Given the description of an element on the screen output the (x, y) to click on. 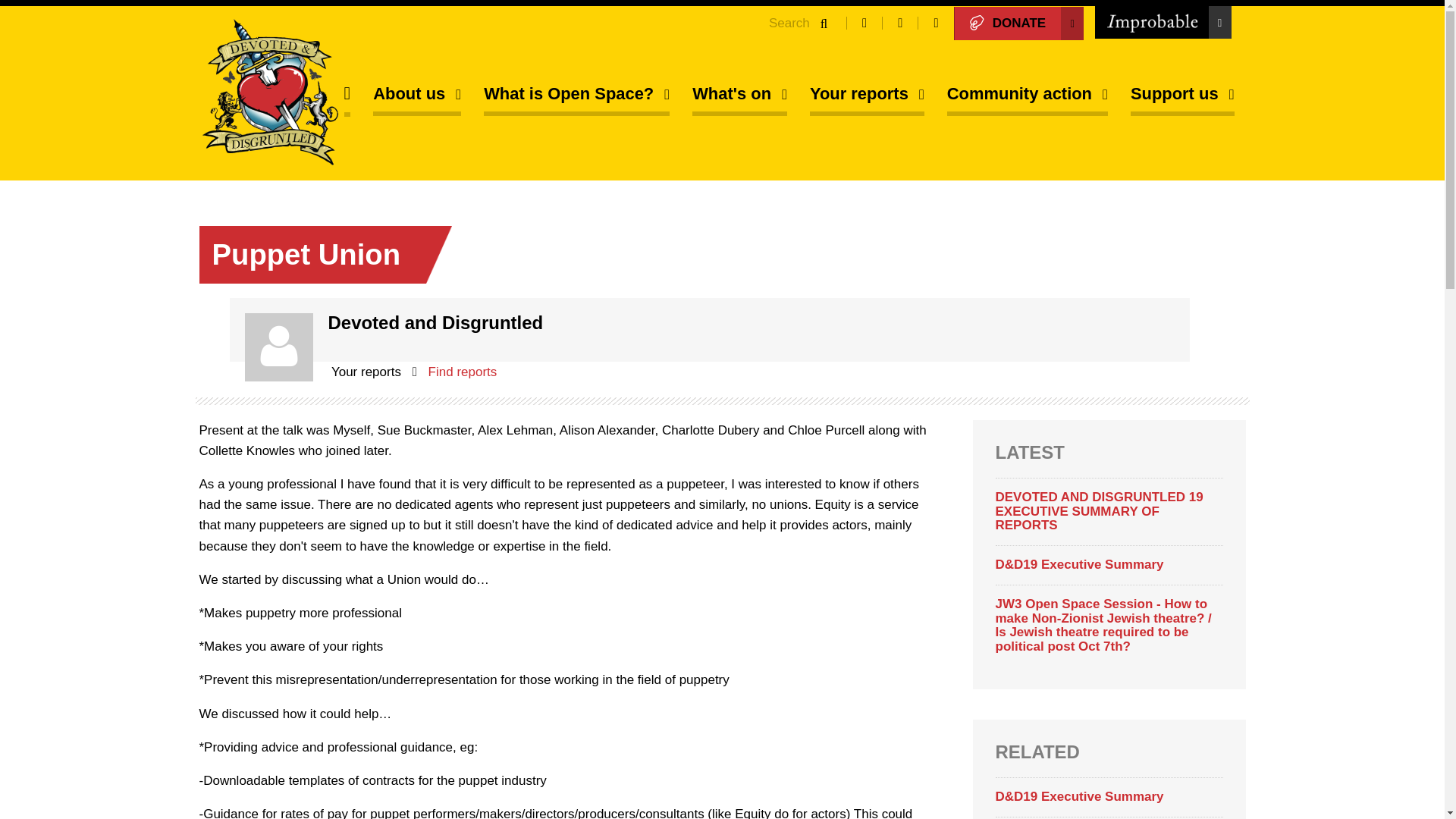
Twitter (899, 22)
What is Open Space? (576, 96)
Your reports (866, 96)
Devoted and Disgruntled (269, 92)
SEARCH (824, 22)
Facebook (863, 22)
DONATE (1018, 23)
What (740, 96)
Support us (1182, 96)
About us (416, 96)
Community action (1027, 96)
Community action drop down menu (1027, 96)
Support us drop down menu (1182, 96)
Home (346, 95)
Home (269, 92)
